Given the description of an element on the screen output the (x, y) to click on. 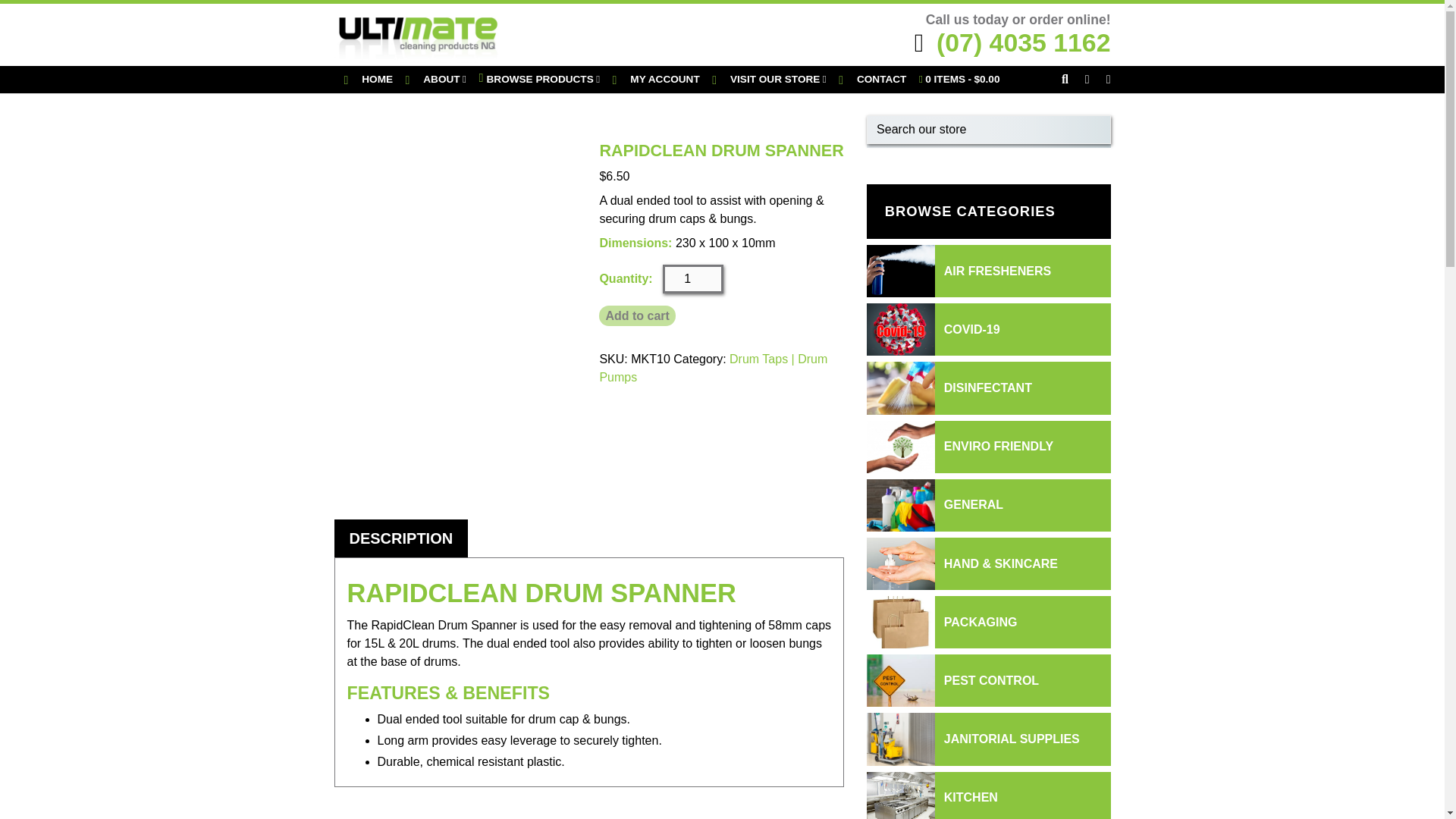
Start shopping (959, 79)
BROWSE PRODUCTS (539, 79)
VISIT OUR STORE (769, 79)
MY ACCOUNT (656, 79)
1 (692, 278)
CONTACT (871, 79)
ABOUT (434, 79)
HOME (368, 79)
